Given the description of an element on the screen output the (x, y) to click on. 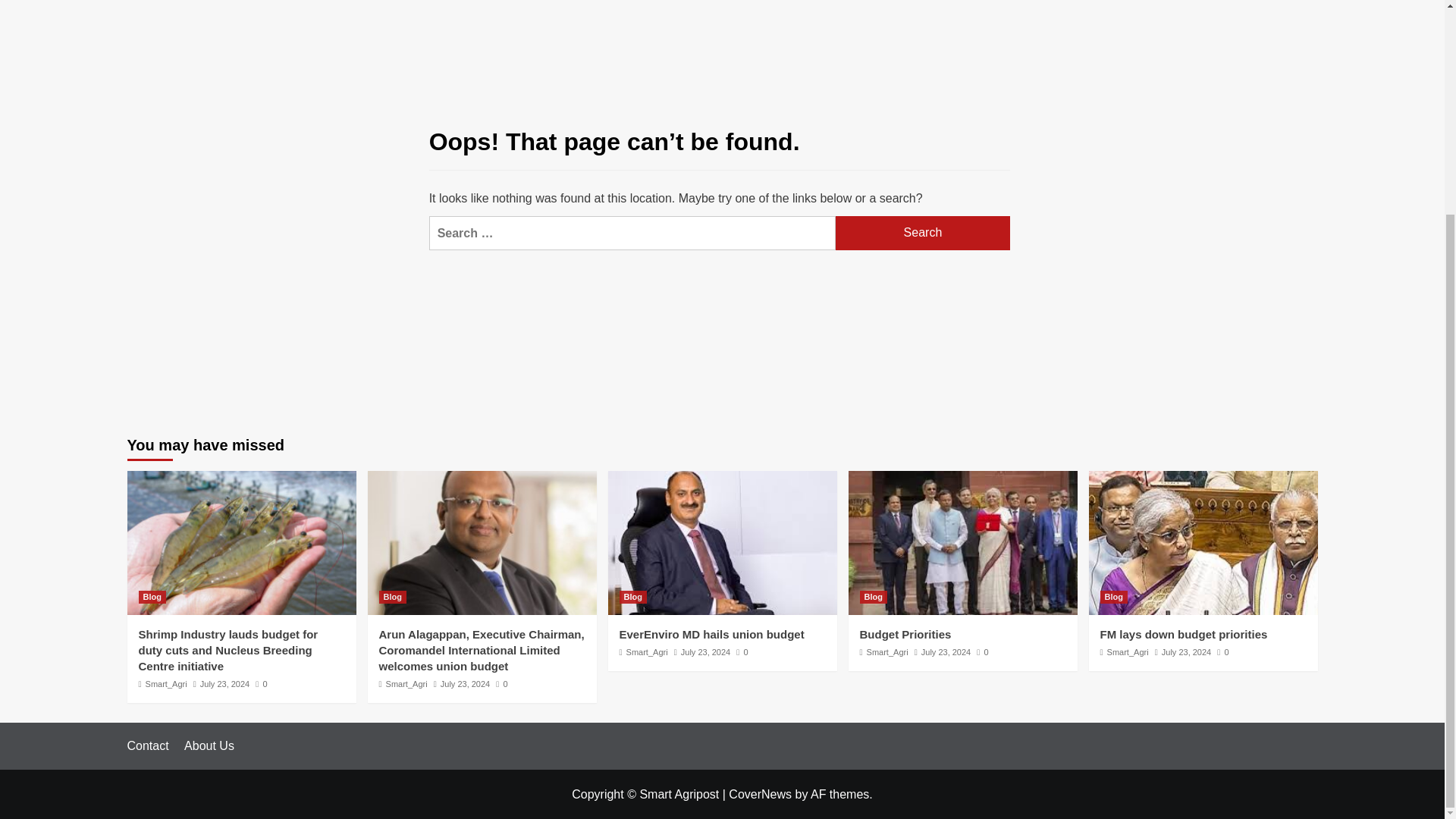
0 (742, 651)
Search (922, 233)
EverEnviro MD hails union budget (710, 634)
0 (261, 683)
0 (501, 683)
Blog (151, 596)
Blog (392, 596)
July 23, 2024 (705, 651)
Search (922, 233)
July 23, 2024 (224, 683)
Blog (632, 596)
July 23, 2024 (465, 683)
Search (922, 233)
